Given the description of an element on the screen output the (x, y) to click on. 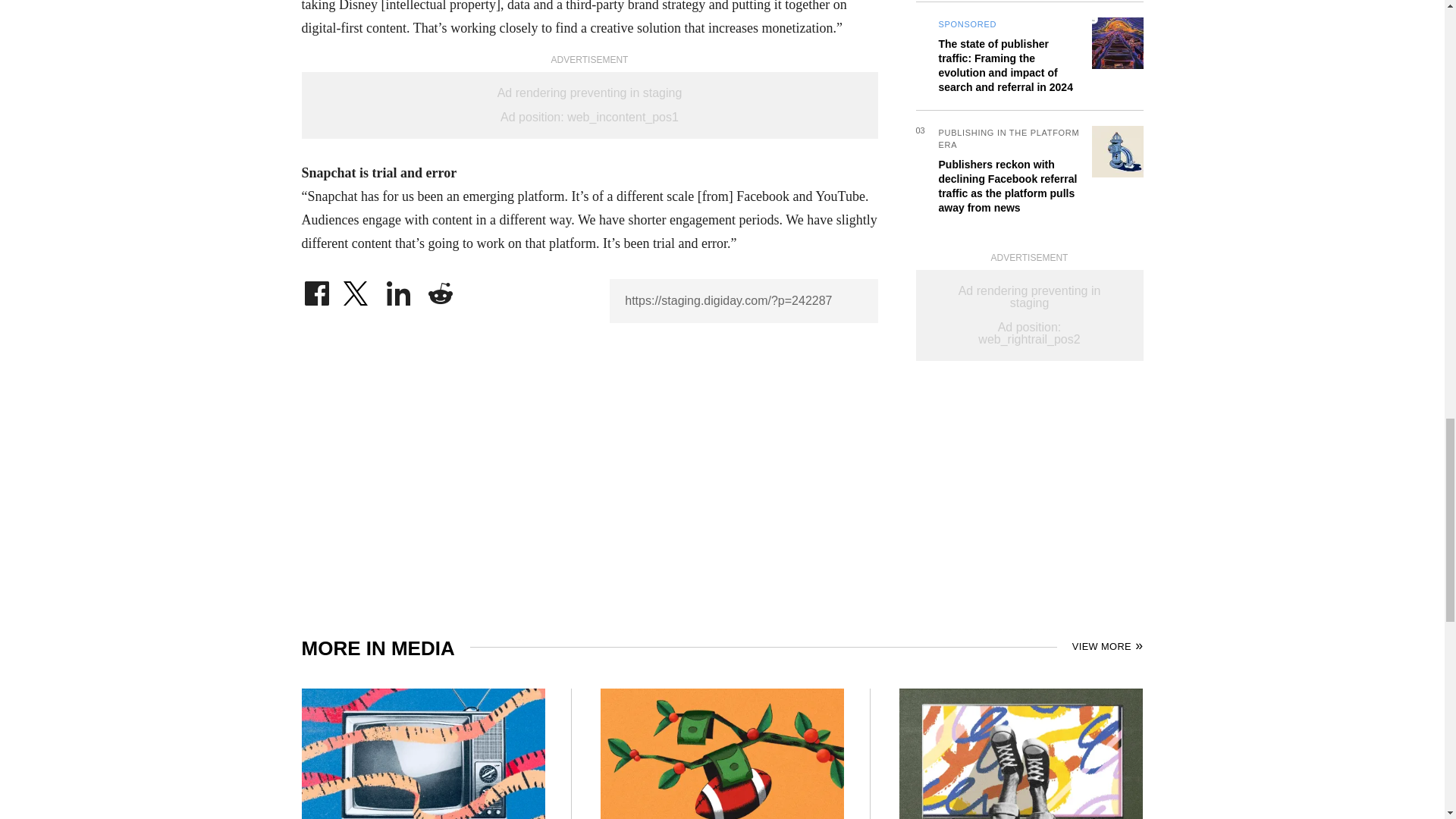
Share on Reddit (440, 289)
Share on LinkedIn (398, 289)
Share on Facebook (316, 289)
Share on Twitter (357, 289)
